Given the description of an element on the screen output the (x, y) to click on. 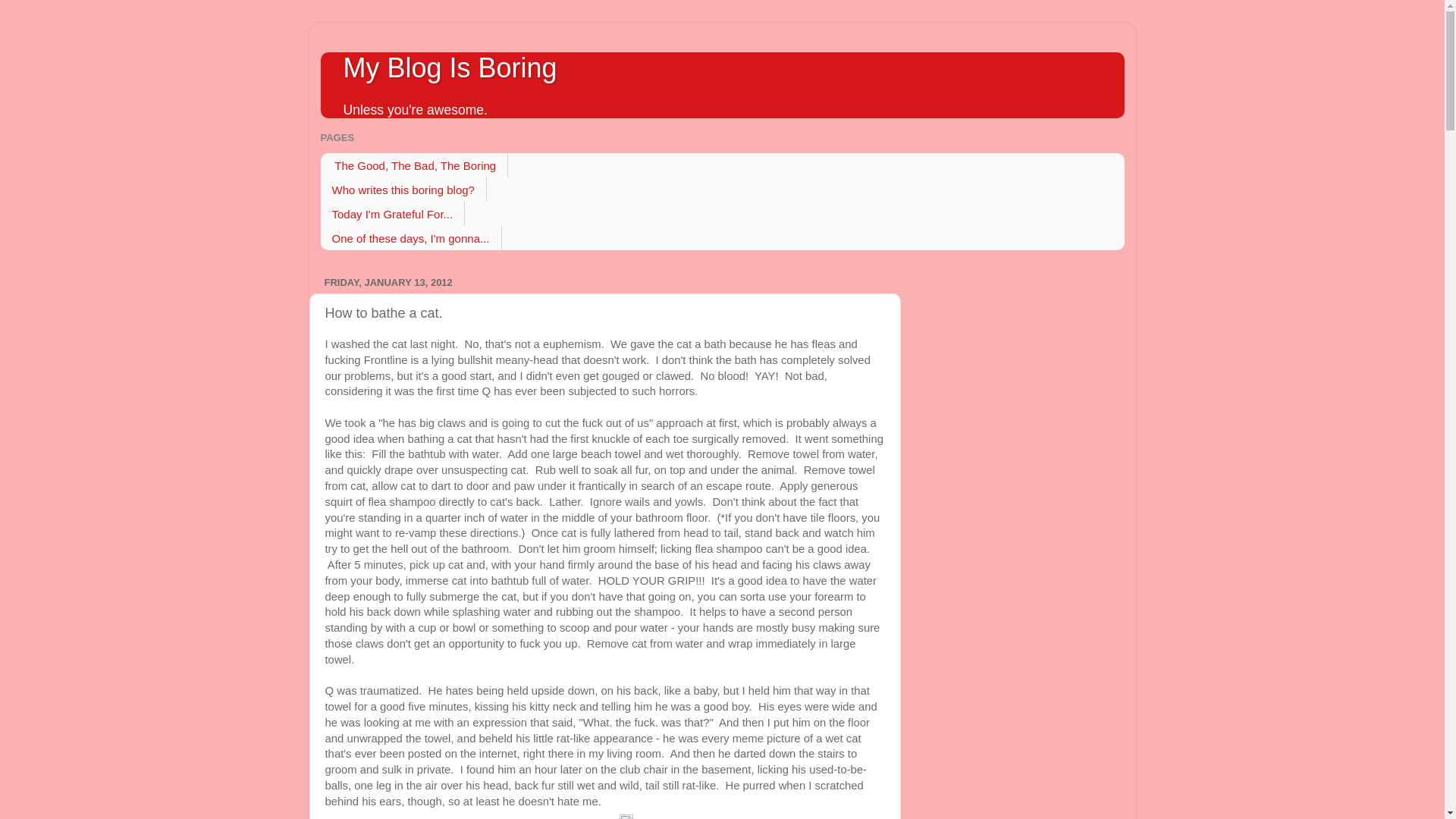
Today I'm Grateful For... (392, 213)
The Good, The Bad, The Boring (414, 165)
Who writes this boring blog? (403, 189)
One of these days, I'm gonna... (410, 238)
My Blog Is Boring (449, 67)
